Given the description of an element on the screen output the (x, y) to click on. 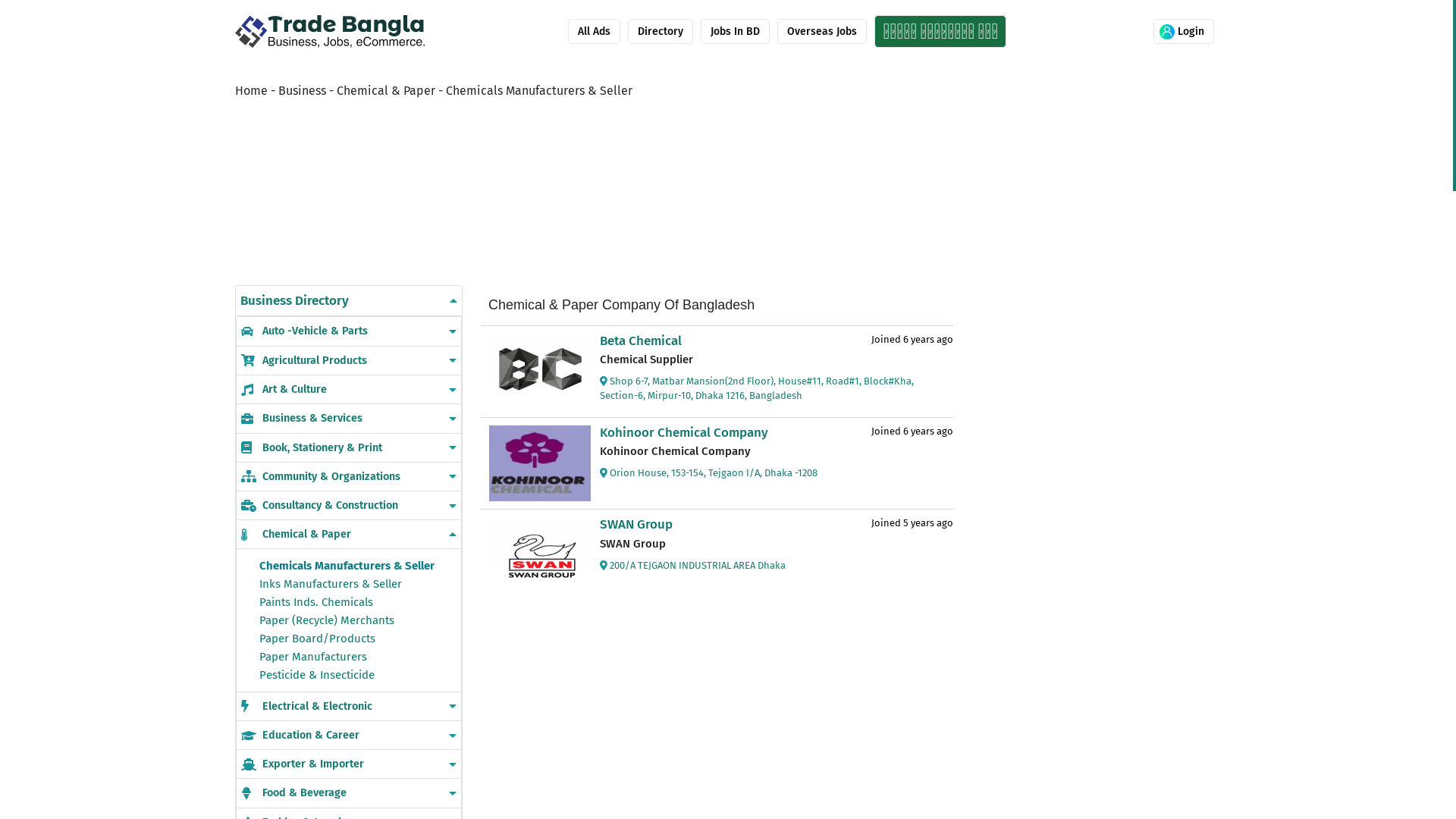
   Education & Career Element type: text (348, 735)
Jobs In BD Element type: text (734, 30)
SWAN Group Element type: text (635, 524)
   Auto -Vehicle & Parts Element type: text (348, 330)
Kohinoor Chemical Company Element type: text (683, 432)
Inks Manufacturers & Seller Element type: text (330, 583)
Overseas Jobs Element type: text (821, 30)
   Agricultural Products Element type: text (348, 360)
   Art & Culture Element type: text (348, 389)
Business Directory Element type: text (348, 300)
Paper Manufacturers Element type: text (313, 656)
Pesticide & Insecticide Element type: text (316, 674)
Home Element type: text (251, 90)
Login Element type: text (1183, 30)
Chemicals Manufacturers & Seller Element type: text (346, 565)
Paper Board/Products Element type: text (317, 638)
Beta Chemical Element type: text (640, 340)
All Ads Element type: text (593, 30)
Paper (Recycle) Merchants Element type: text (326, 620)
Directory Element type: text (660, 30)
   Exporter & Importer Element type: text (348, 763)
   Food & Beverage Element type: text (348, 792)
Paints Inds. Chemicals Element type: text (316, 601)
   Business & Services Element type: text (348, 418)
   Electrical & Electronic Element type: text (348, 706)
   Chemical & Paper Element type: text (348, 534)
   Community & Organizations Element type: text (348, 476)
   Book, Stationery & Print Element type: text (348, 447)
Business Element type: text (302, 90)
   Consultancy & Construction Element type: text (348, 505)
